Given the description of an element on the screen output the (x, y) to click on. 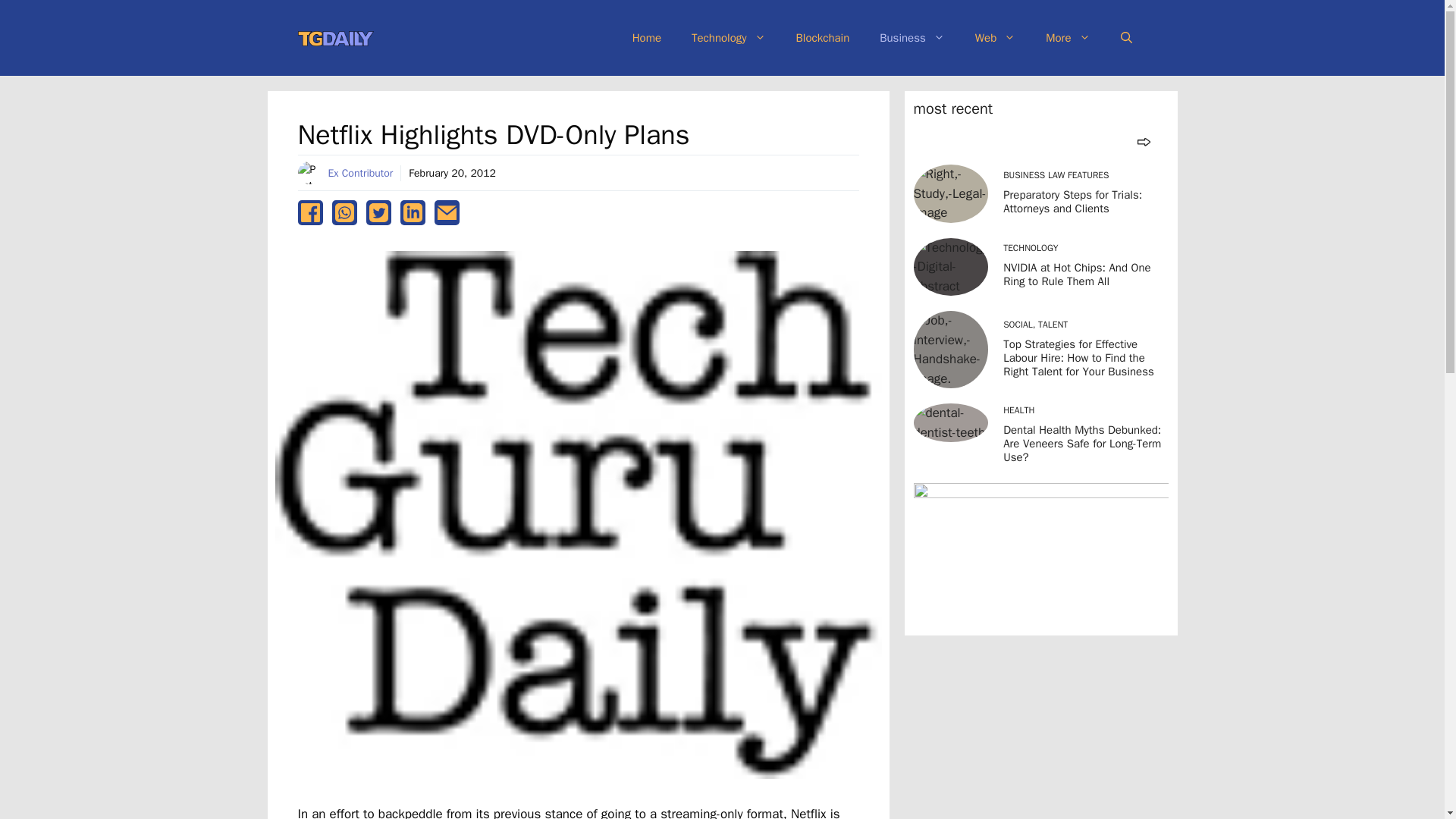
Technology (728, 37)
Blockchain (822, 37)
purple-600x400-1 (1039, 554)
Business (911, 37)
Web (994, 37)
Home (647, 37)
More (1067, 37)
